Given the description of an element on the screen output the (x, y) to click on. 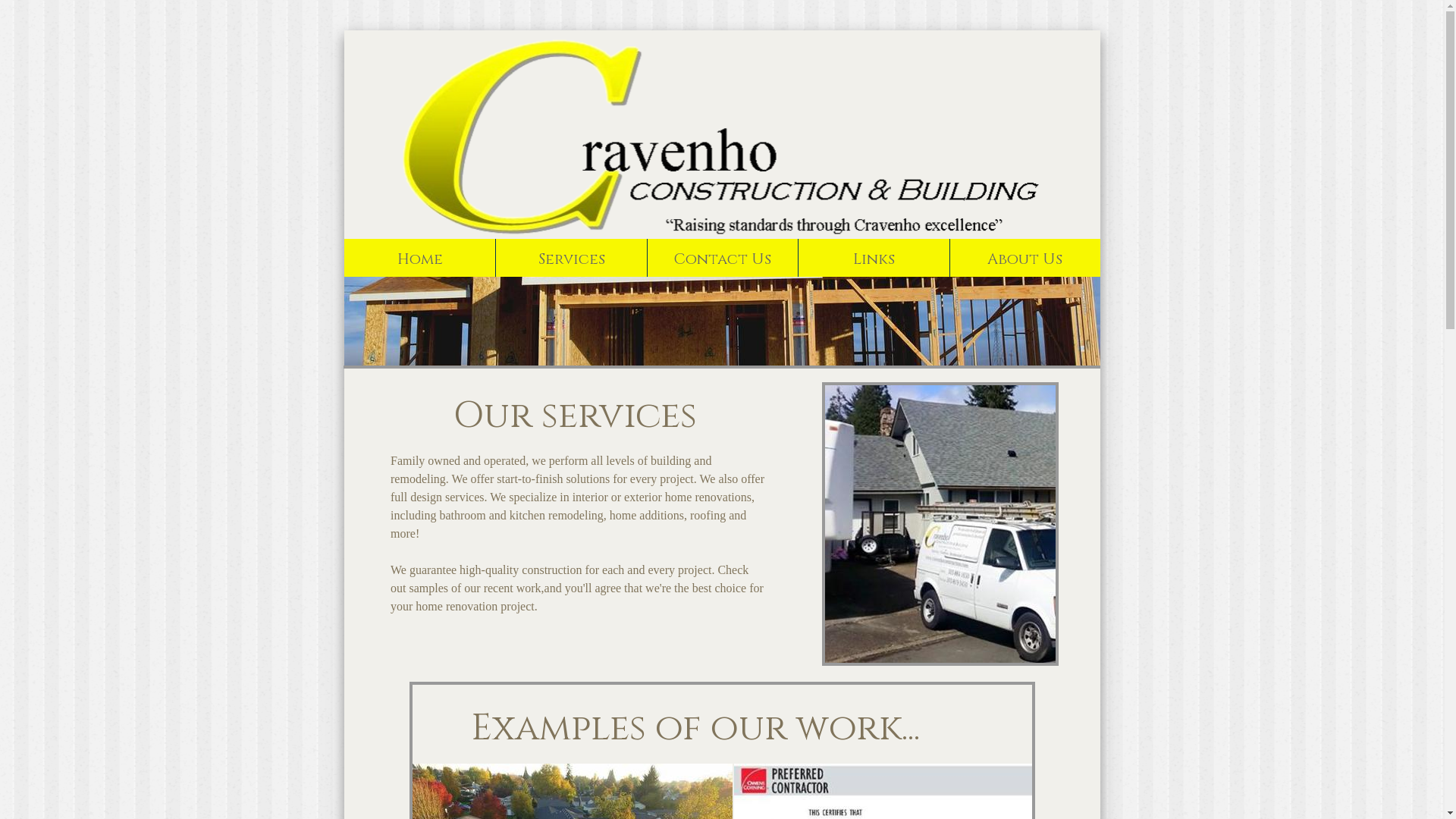
Links Element type: text (872, 257)
About Us Element type: text (1024, 257)
Services Element type: text (570, 257)
Contact Us Element type: text (721, 257)
Home Element type: text (419, 257)
